Given the description of an element on the screen output the (x, y) to click on. 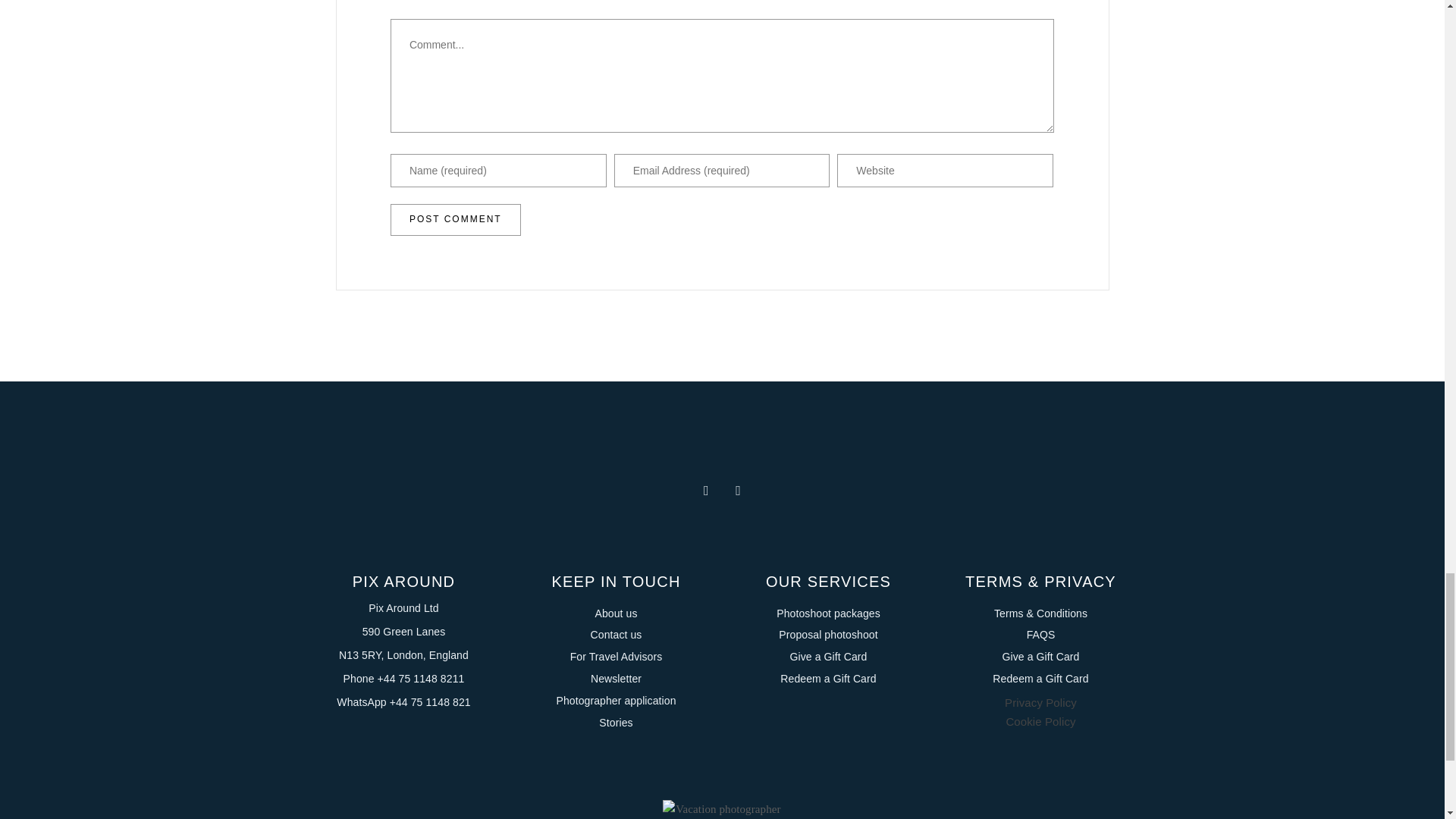
Privacy Policy (1040, 702)
Cookie Policy  (1040, 721)
Post Comment (455, 219)
